Given the description of an element on the screen output the (x, y) to click on. 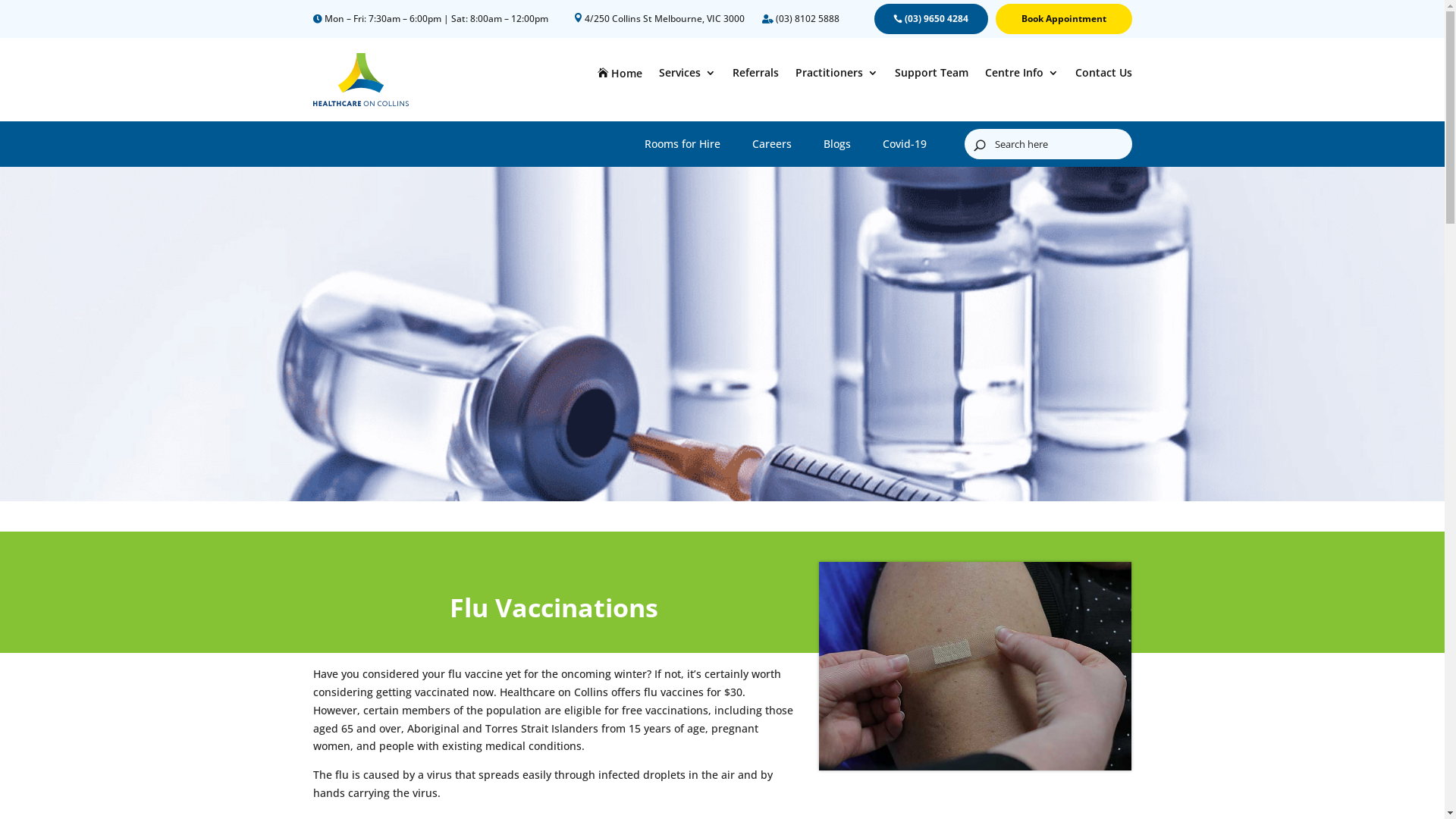
Flu-Vaccinations-illustration Element type: hover (975, 665)
(03) 9650 4284 Element type: text (930, 18)
Practitioners Element type: text (835, 75)
Services Element type: text (686, 75)
Blogs Element type: text (836, 146)
Referrals Element type: text (755, 75)
Support Team Element type: text (931, 75)
Health on Collins Logo Element type: hover (359, 79)
Covid-19 Element type: text (904, 146)
Rooms for Hire Element type: text (682, 146)
Book Appointment Element type: text (1062, 18)
Contact Us Element type: text (1103, 75)
Centre Info Element type: text (1020, 75)
Careers Element type: text (771, 146)
